Given the description of an element on the screen output the (x, y) to click on. 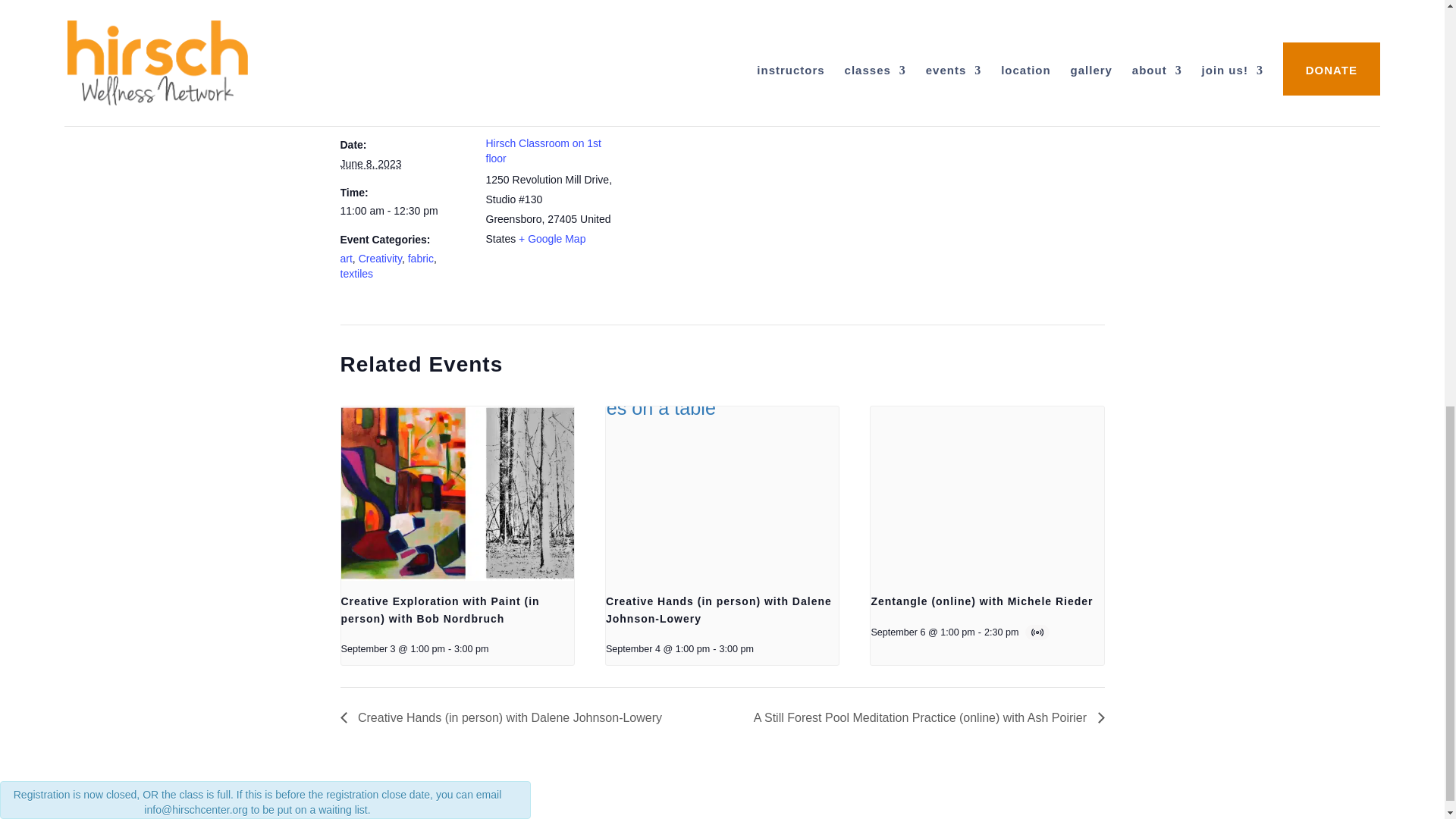
2023-06-08 (403, 211)
2023-06-08 (370, 163)
Creativity (379, 258)
fabric (420, 258)
Click to view a Google Map (551, 238)
textiles (355, 273)
Virtual Event (1038, 632)
art (345, 258)
Hirsch Classroom on 1st floor (542, 150)
